Given the description of an element on the screen output the (x, y) to click on. 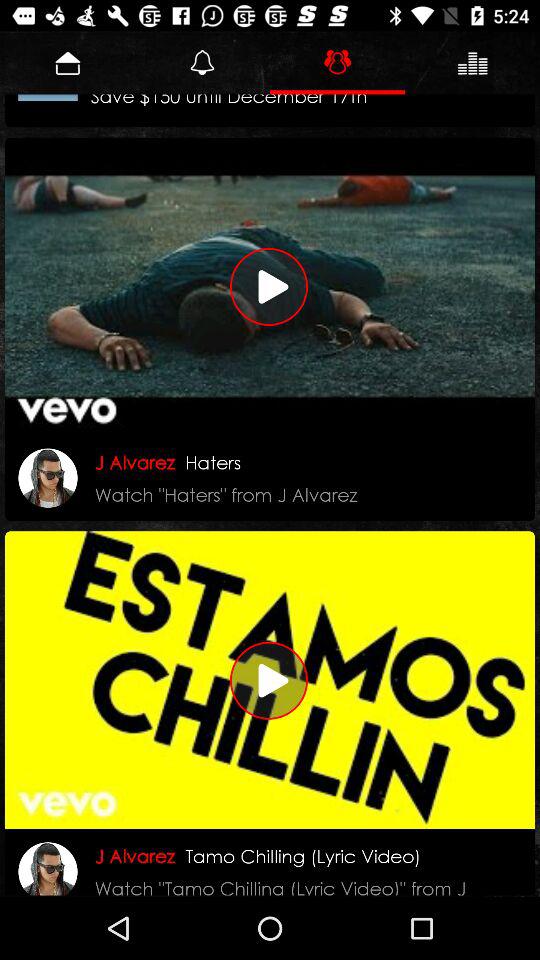
scroll to the ste anne s (238, 108)
